Given the description of an element on the screen output the (x, y) to click on. 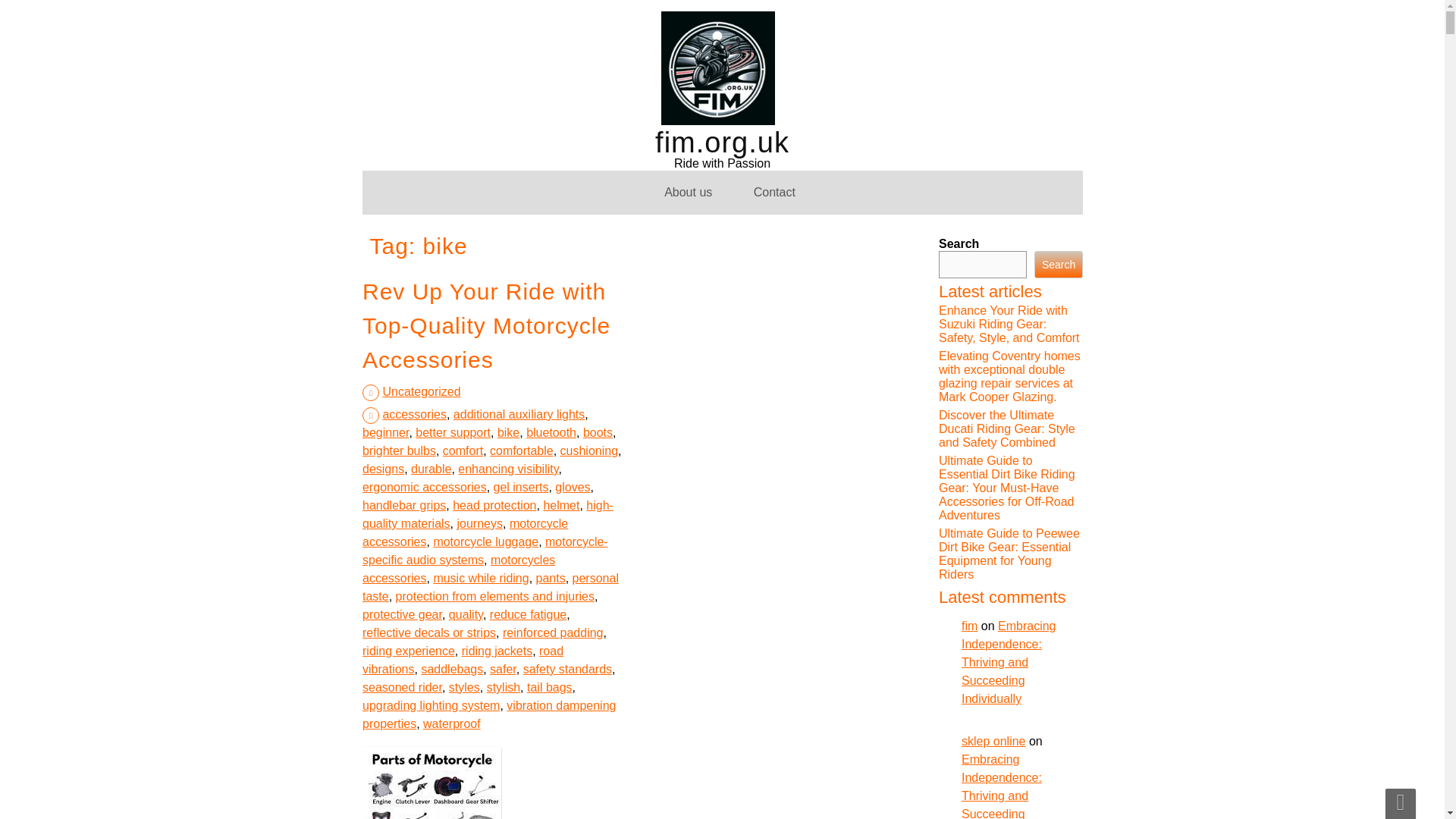
motorcycles accessories (462, 672)
protection from elements and injuries (495, 617)
pants (549, 638)
About us (687, 192)
motorcycle accessories (475, 747)
music while riding (481, 653)
reduce fatigue (527, 616)
fim.org.uk (722, 148)
journeys (482, 784)
personal taste (492, 622)
protective gear (402, 625)
quality (465, 621)
motorcycle-specific audio systems (491, 686)
high-quality materials (501, 816)
Rev Up Your Ride with Top-Quality Motorcycle Accessories (486, 325)
